Given the description of an element on the screen output the (x, y) to click on. 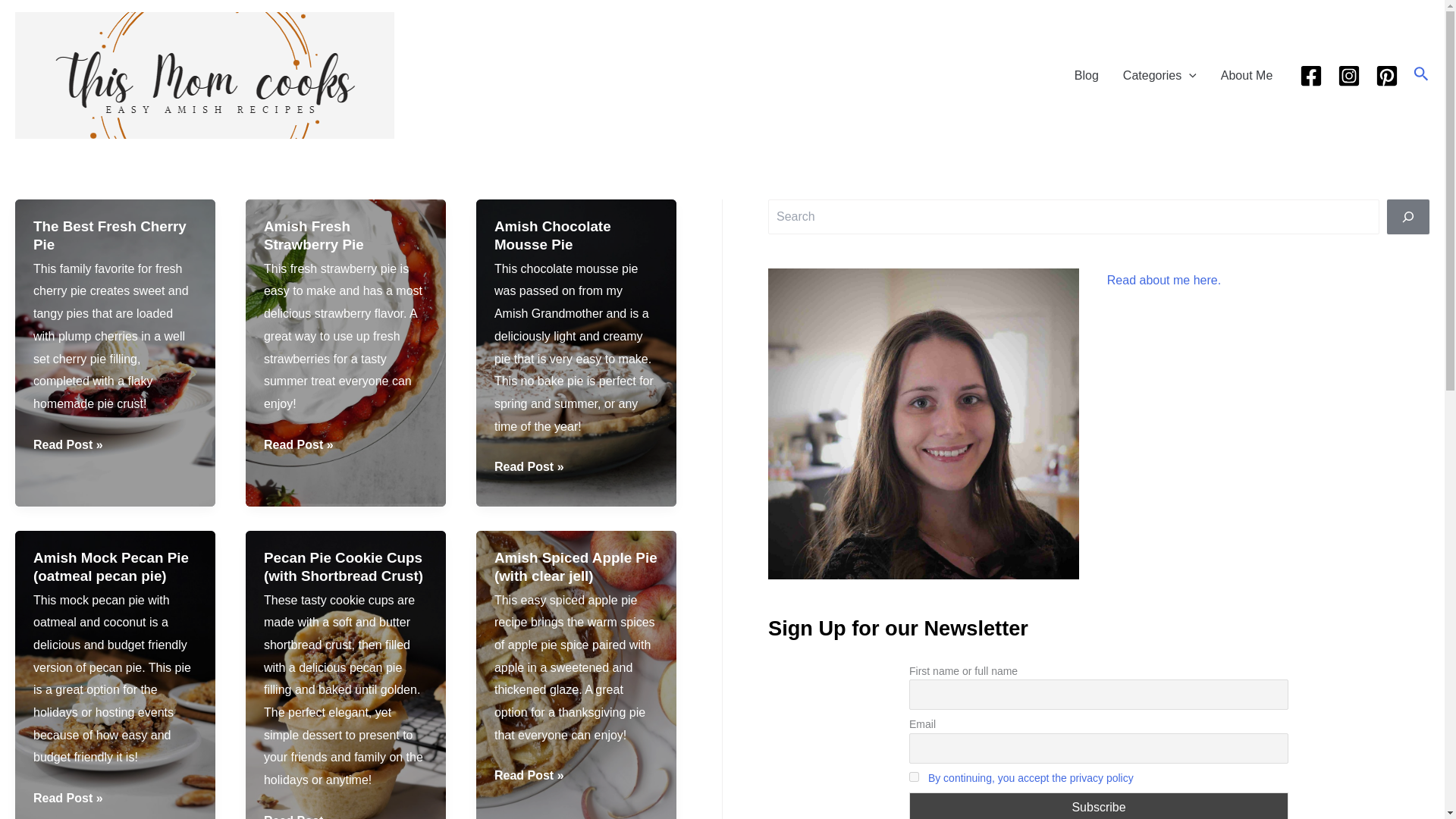
About Me (1246, 74)
Categories (1159, 74)
on (913, 777)
Amish Chocolate Mousse Pie (553, 235)
Subscribe (1098, 805)
The Best Fresh Cherry Pie (109, 235)
Amish Fresh Strawberry Pie (313, 235)
Blog (1086, 74)
